Given the description of an element on the screen output the (x, y) to click on. 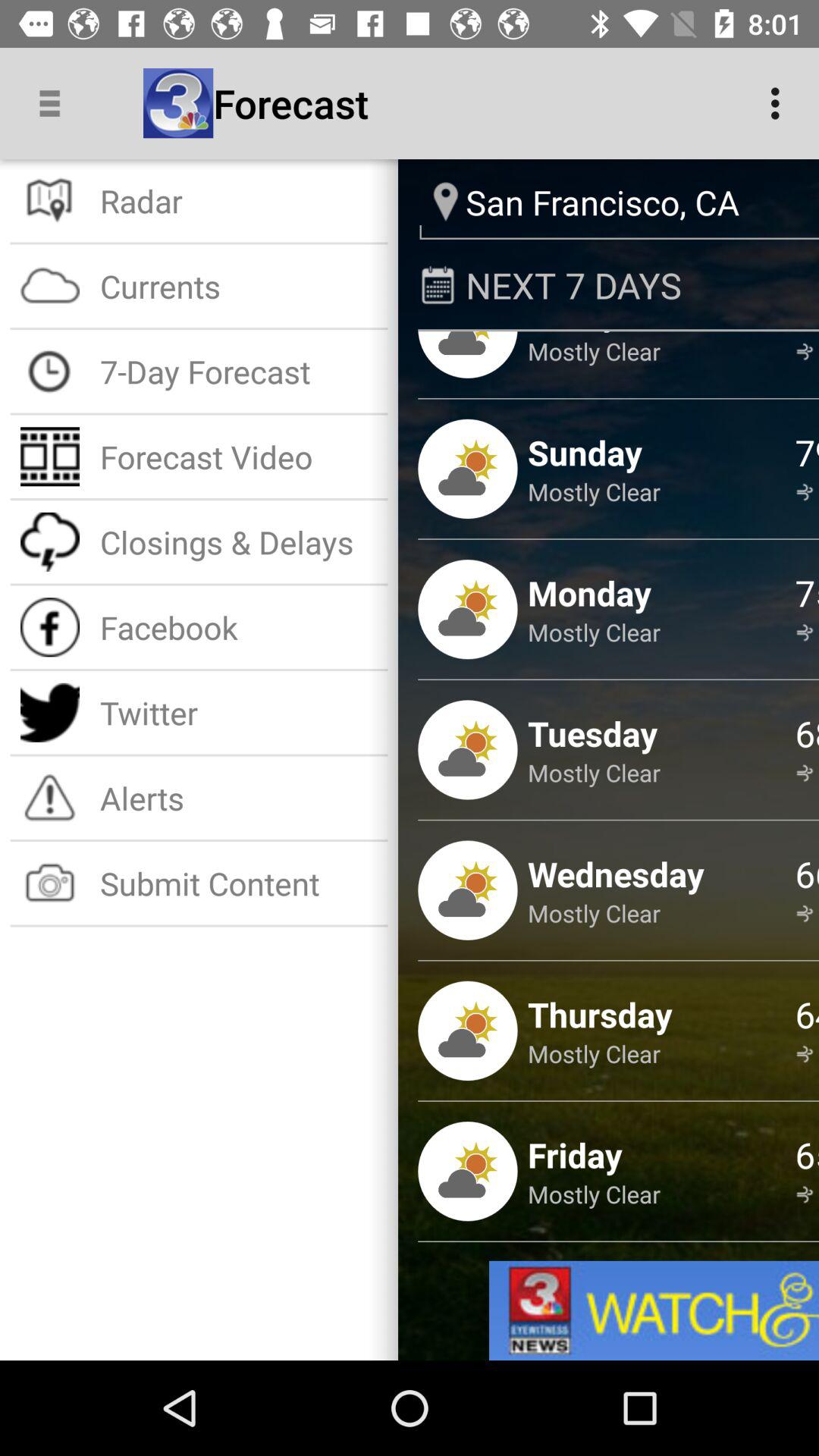
tap icon below closings & delays item (238, 626)
